Given the description of an element on the screen output the (x, y) to click on. 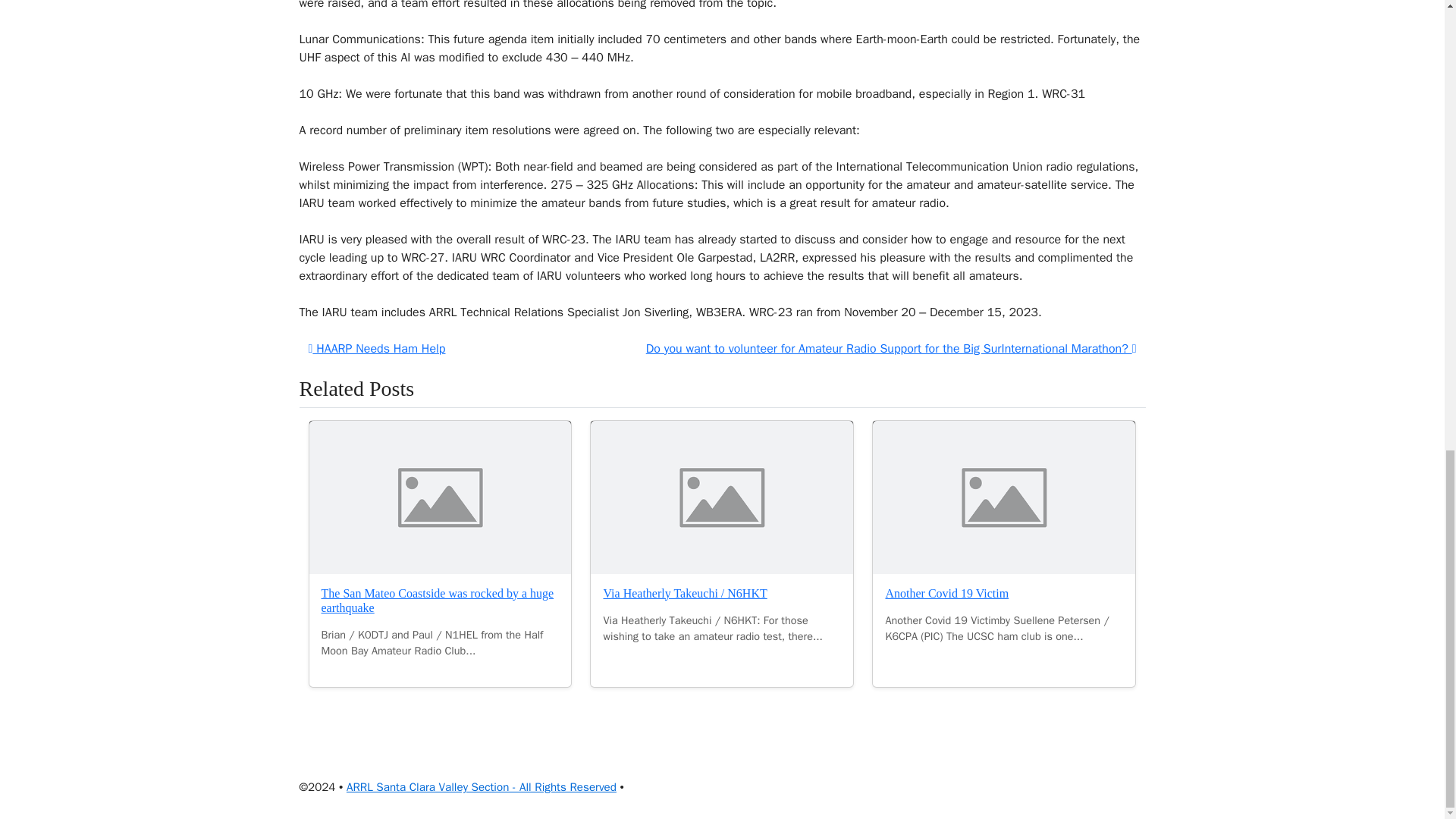
ARRL Santa Clara Valley Section - All Rights Reserved (480, 787)
Another Covid 19 Victim (1003, 496)
Another Covid 19 Victim (947, 593)
The San Mateo Coastside was rocked by a huge earthquake (437, 600)
The San Mateo Coastside was rocked by a huge earthquake (440, 496)
 HAARP Needs Ham Help (376, 348)
